Given the description of an element on the screen output the (x, y) to click on. 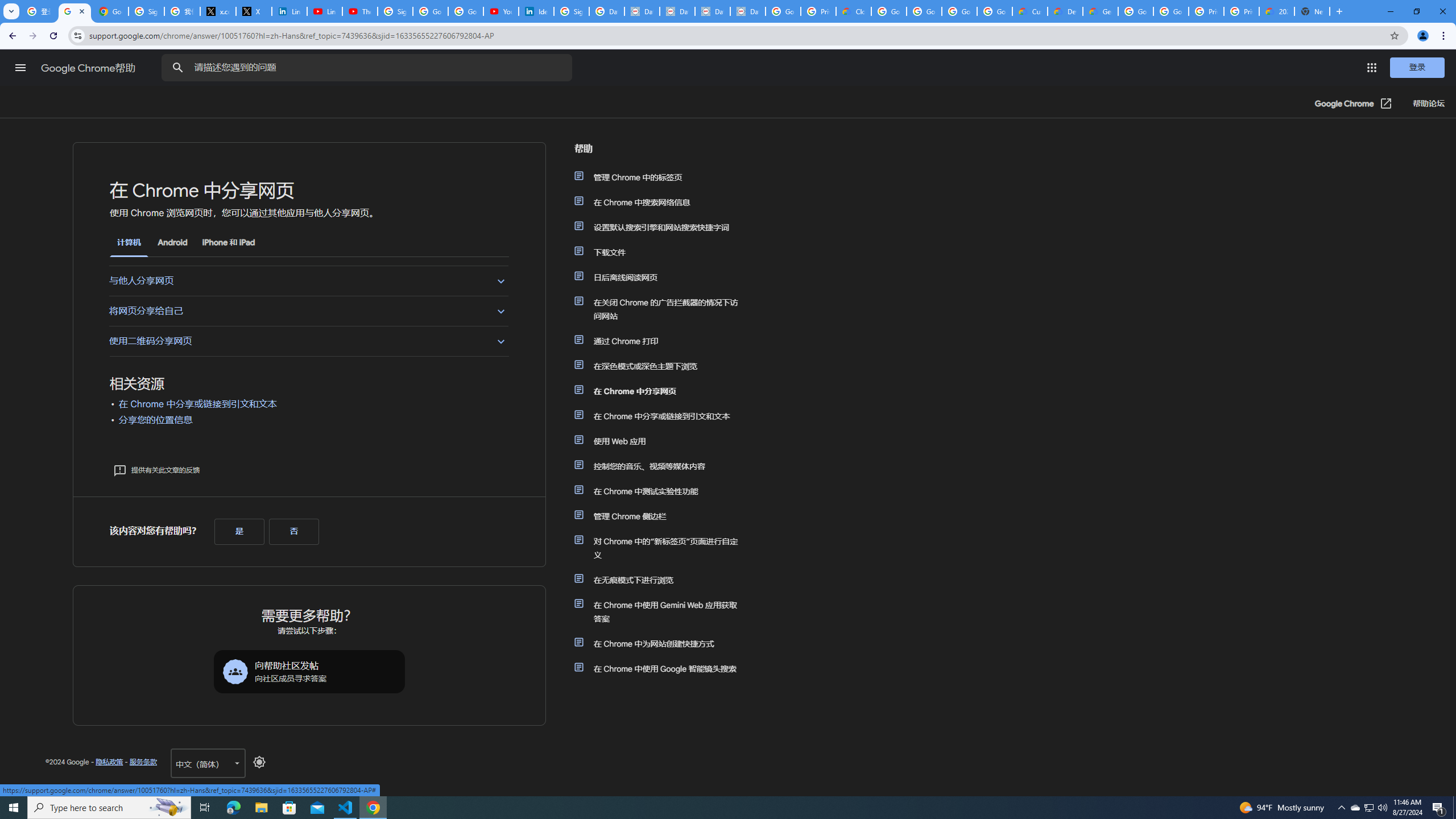
X (253, 11)
Cloud Data Processing Addendum | Google Cloud (853, 11)
Sign in - Google Accounts (394, 11)
